Given the description of an element on the screen output the (x, y) to click on. 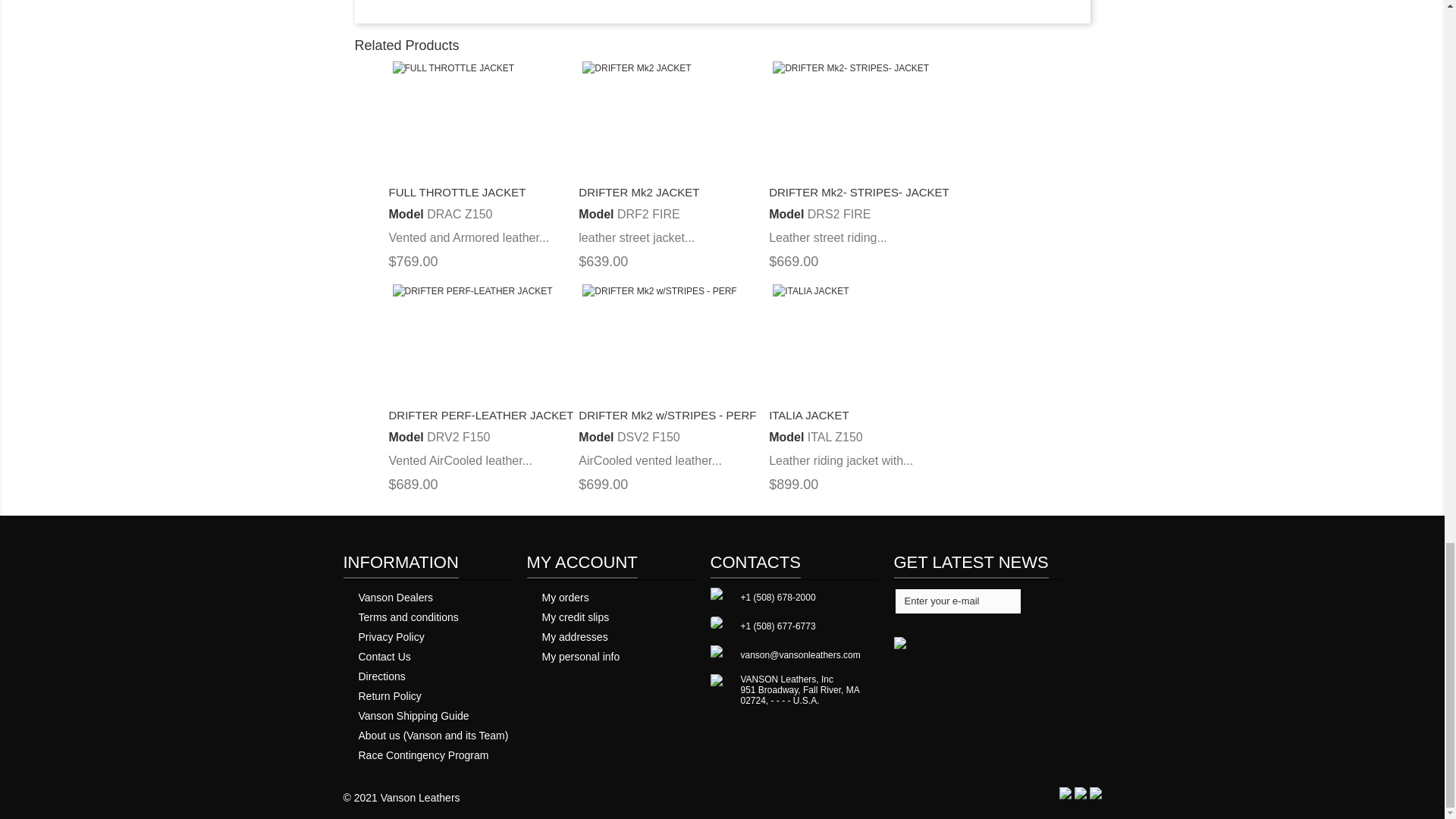
Enter your e-mail (957, 600)
